Given the description of an element on the screen output the (x, y) to click on. 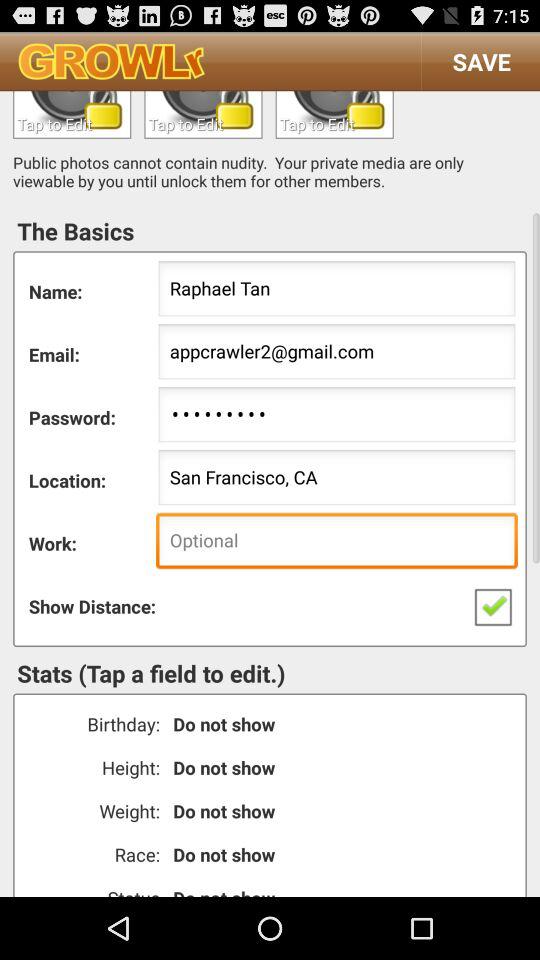
edit photo (334, 114)
